Given the description of an element on the screen output the (x, y) to click on. 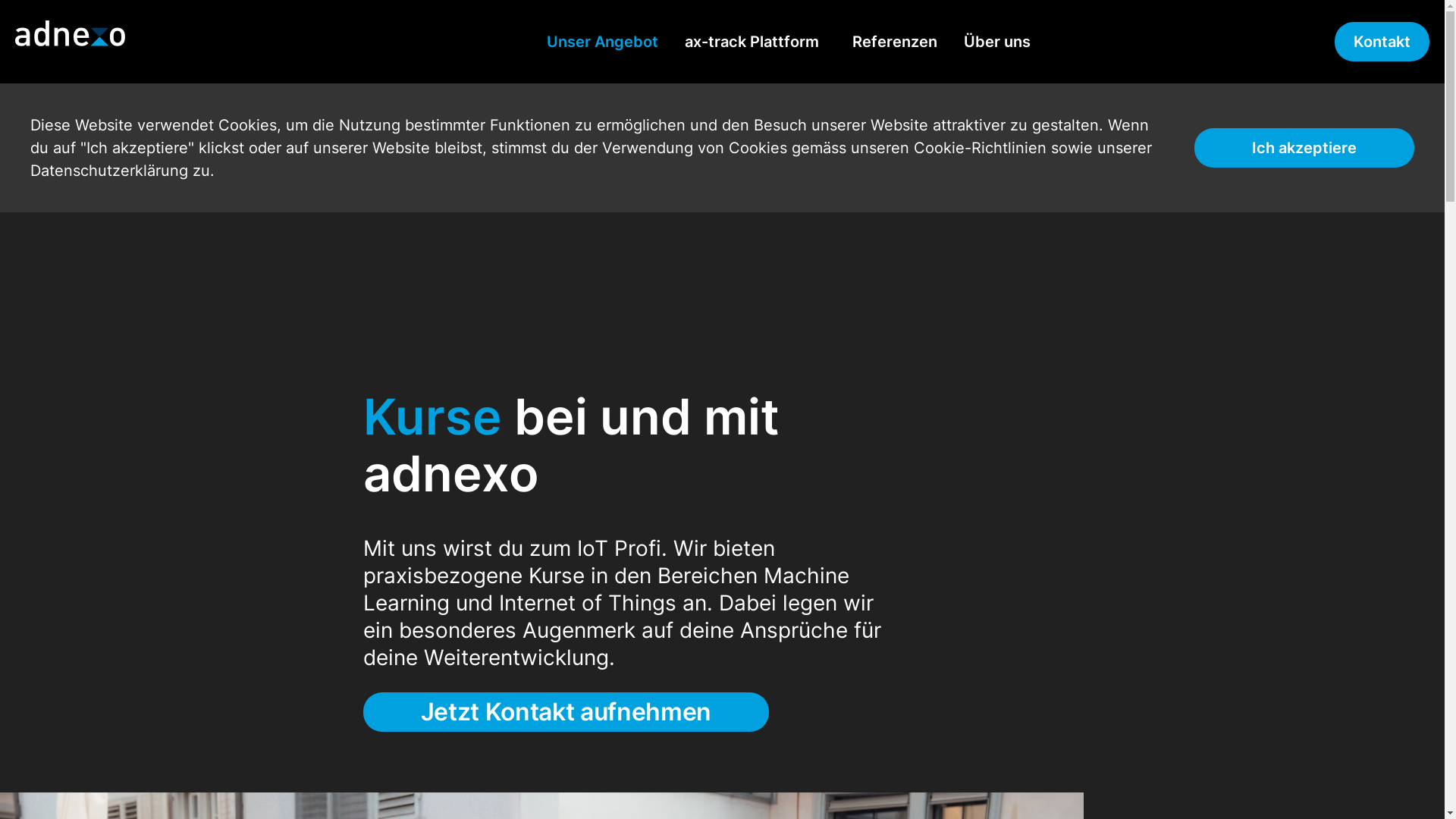
Kontakt Element type: text (1381, 41)
Referenzen Element type: text (894, 41)
ax-track Plattform Element type: text (751, 41)
Cookie-Richtlinien Element type: text (979, 147)
Jetzt Kontakt aufnehmen Element type: text (565, 711)
Ich akzeptiere Element type: text (1304, 147)
Unser Angebot Element type: text (602, 41)
